Given the description of an element on the screen output the (x, y) to click on. 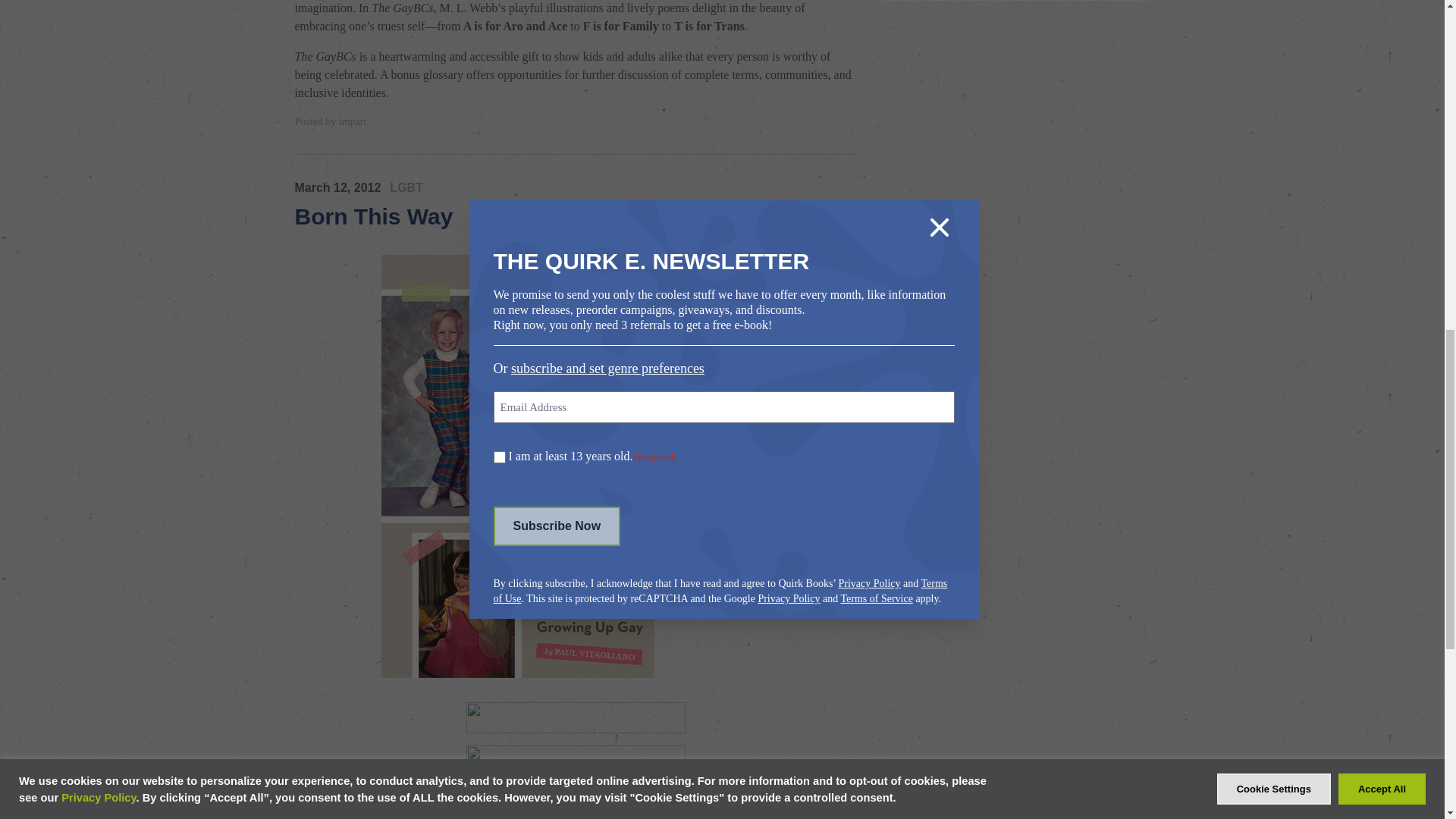
LGBT (406, 188)
Born This Way (373, 216)
impart (352, 121)
